Given the description of an element on the screen output the (x, y) to click on. 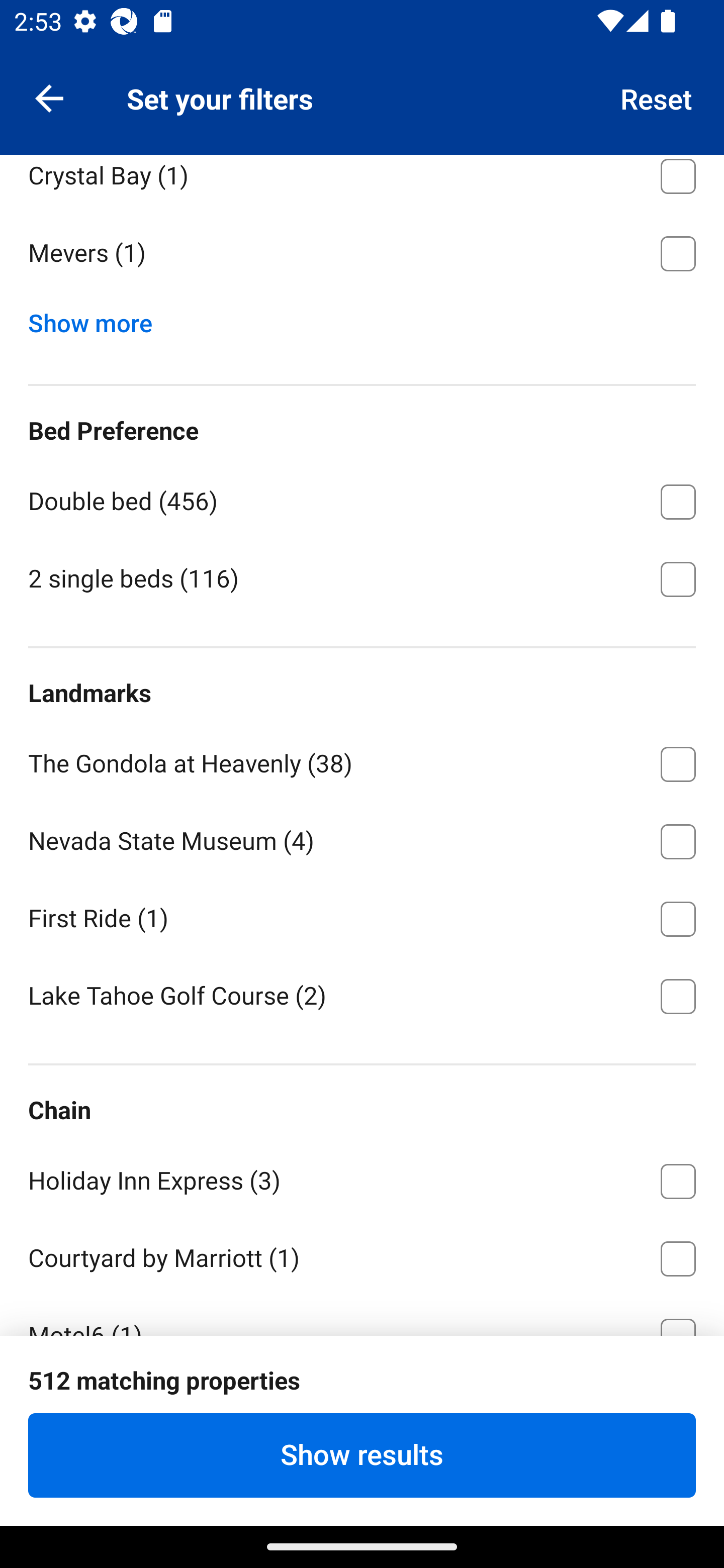
Navigate up (49, 97)
Pomins ⁦(1) (361, 95)
Reset (656, 97)
Crystal Bay ⁦(1) (361, 183)
Mevers ⁦(1) (361, 253)
Show more (97, 318)
Double bed ⁦(456) (361, 498)
2 single beds ⁦(116) (361, 577)
The Gondola at Heavenly ⁦(38) (361, 760)
Nevada State Museum ⁦(4) (361, 837)
First Ride ⁦(1) (361, 915)
Lake Tahoe Golf Course ⁦(2) (361, 994)
Holiday Inn Express ⁦(3) (361, 1177)
Courtyard by Marriott ⁦(1) (361, 1254)
Show results (361, 1454)
